Given the description of an element on the screen output the (x, y) to click on. 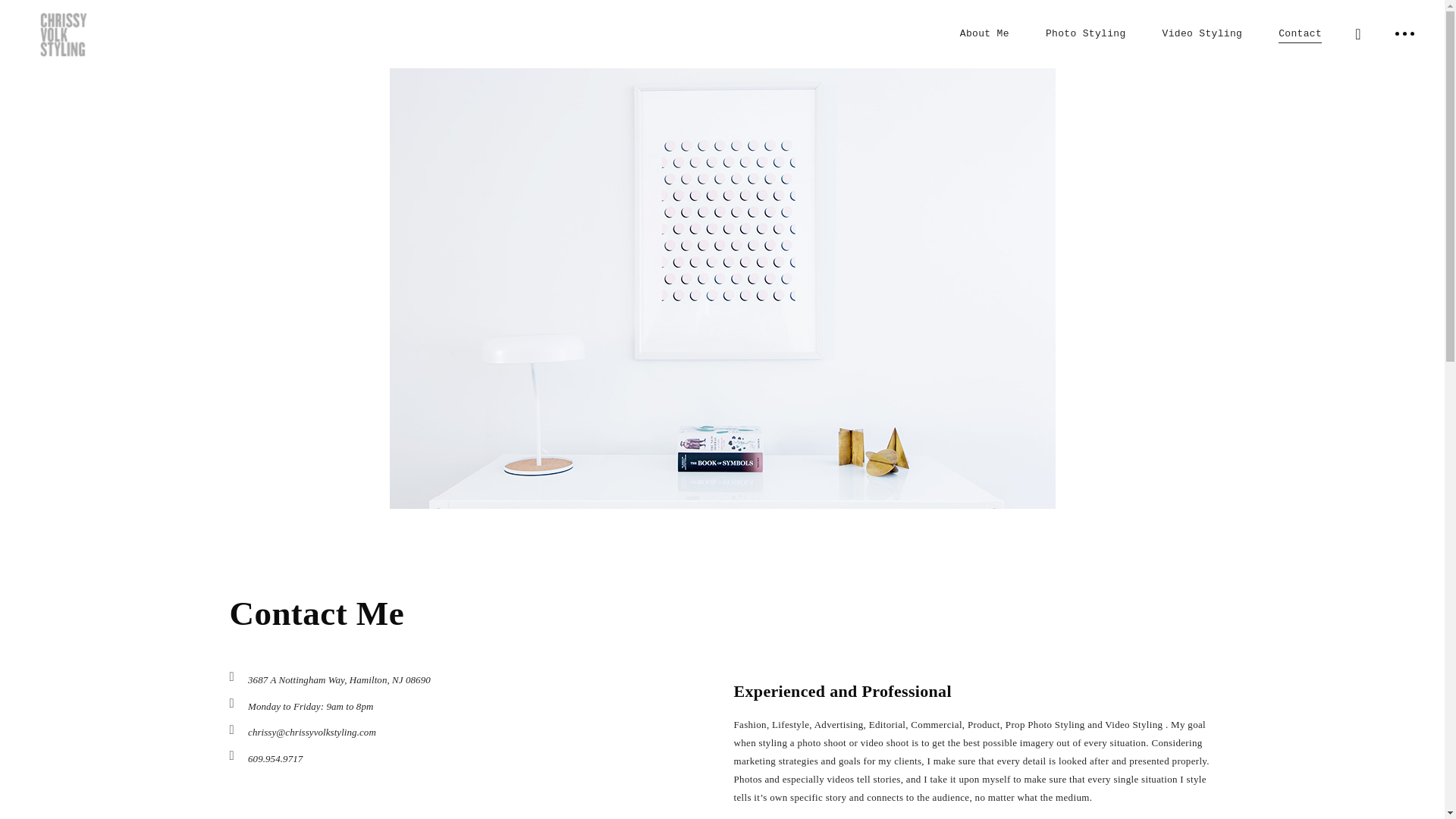
609.954.9717 (274, 758)
Photo Styling (1085, 33)
About Me (984, 33)
3687 A Nottingham Way, Hamilton, NJ 08690 (338, 680)
Monday to Friday: 9am to 8pm (309, 706)
Video Styling (1202, 33)
Contact (1299, 33)
